Given the description of an element on the screen output the (x, y) to click on. 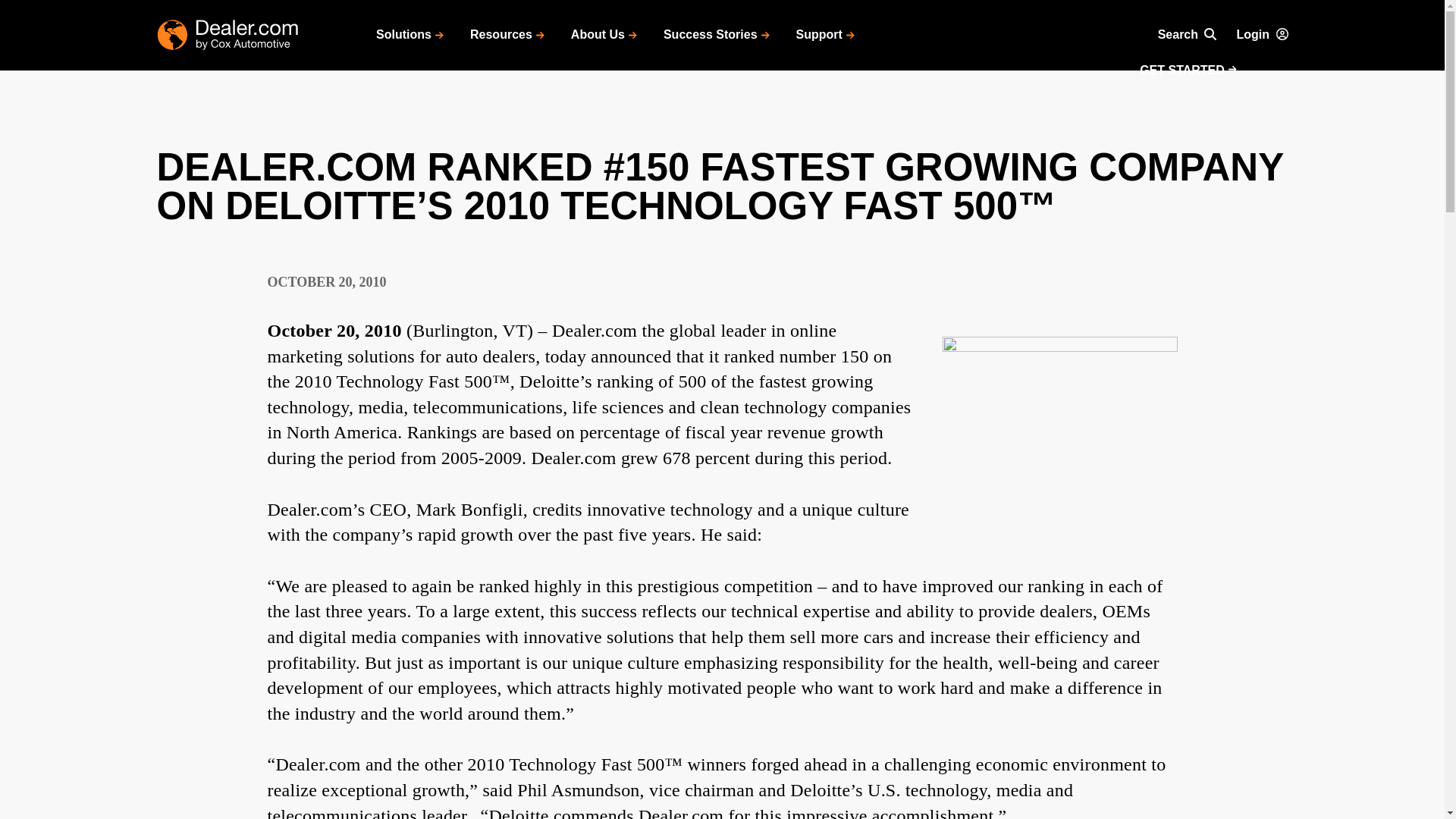
Deloitte 2010 (1059, 404)
Solutions (409, 35)
Resources (507, 35)
About Us (603, 35)
